Given the description of an element on the screen output the (x, y) to click on. 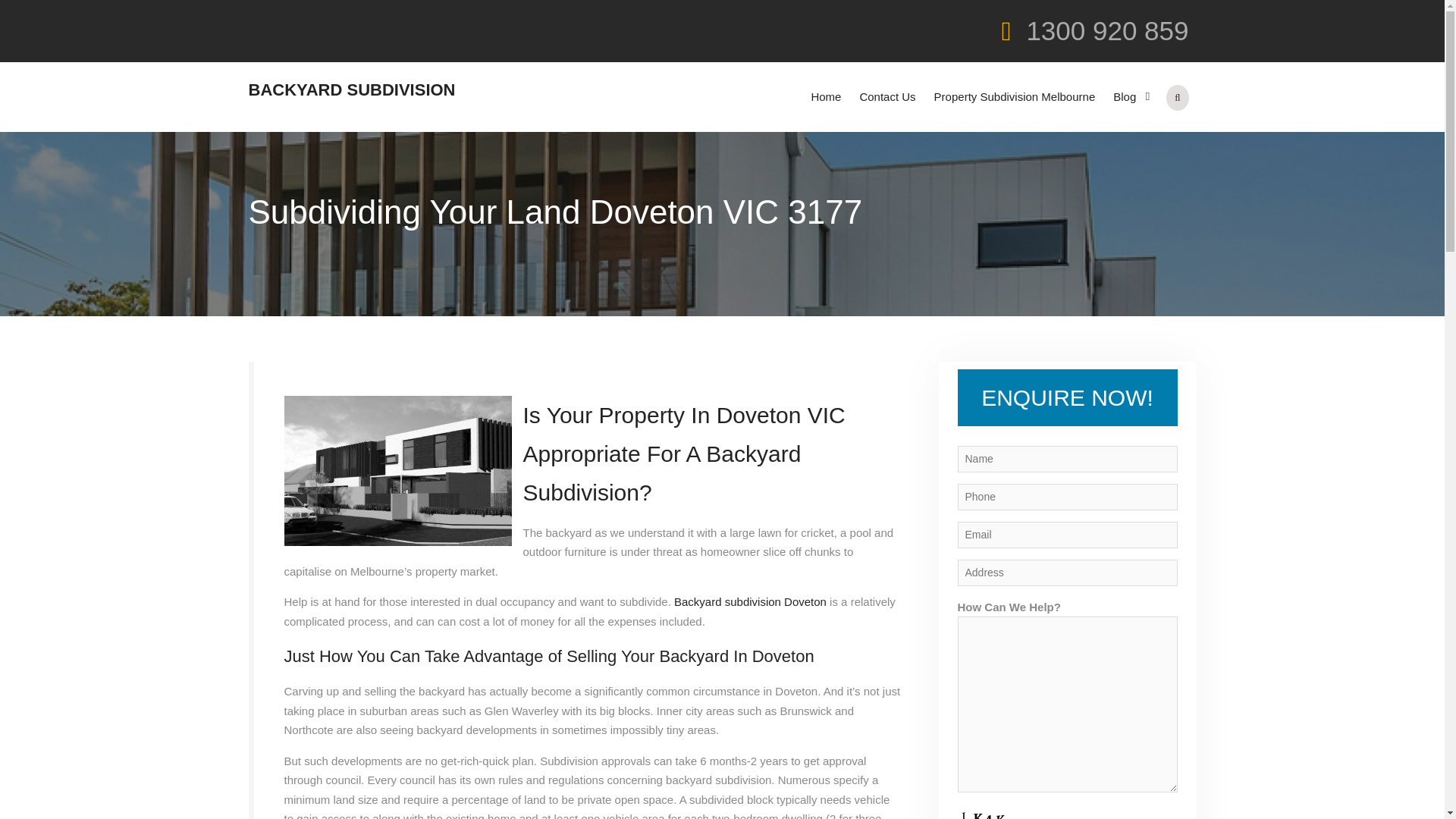
BACKYARD SUBDIVISION (351, 89)
Blog (1128, 96)
Backyard subdivision Doveton (750, 601)
1300 920 859 (1107, 30)
Property Subdivision Melbourne (1014, 96)
Contact Us (887, 96)
